Given the description of an element on the screen output the (x, y) to click on. 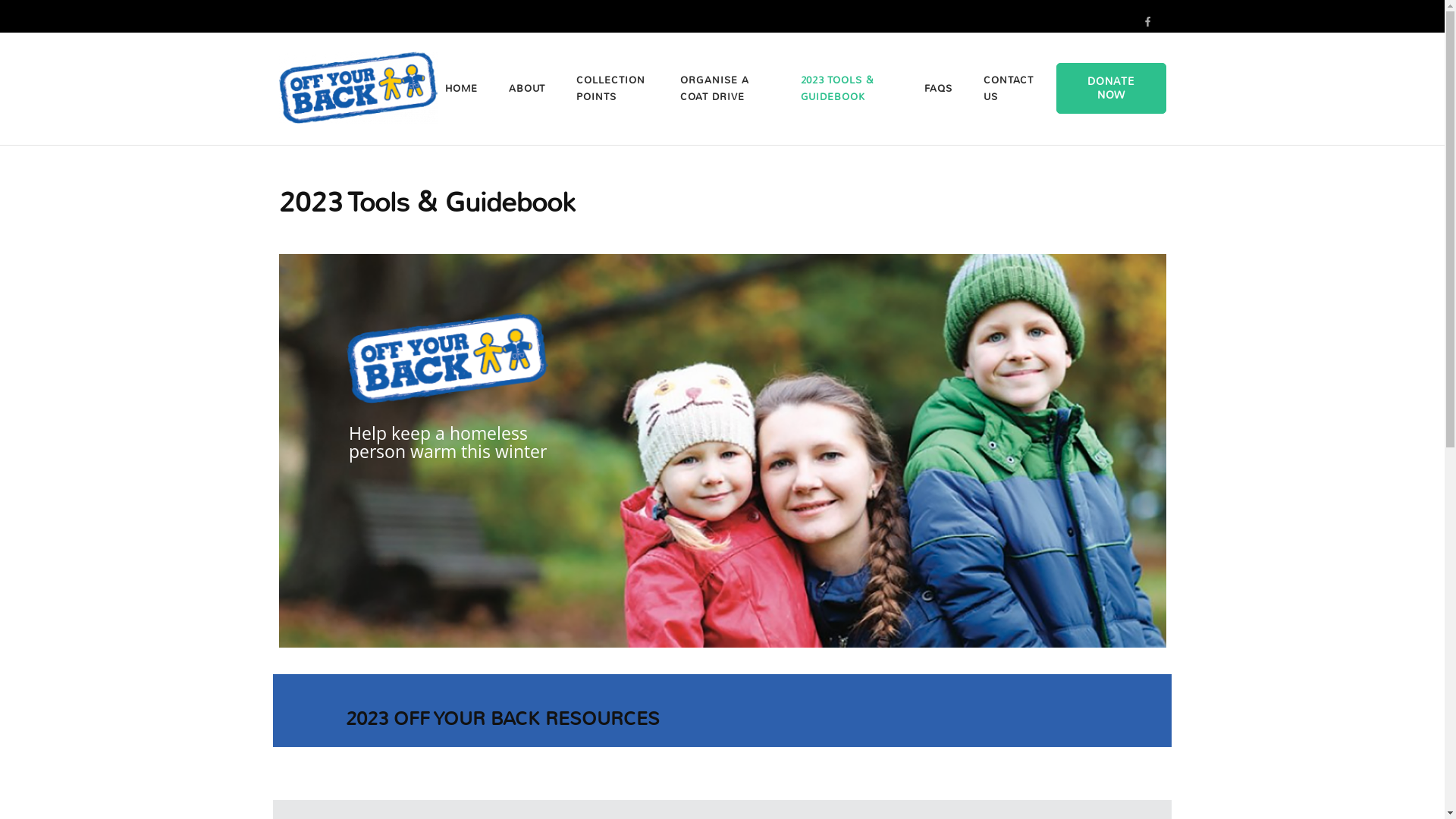
CONTACT US Element type: text (1008, 88)
FAQS Element type: text (938, 88)
ORGANISE A COAT DRIVE Element type: text (724, 88)
2023 TOOLS & GUIDEBOOK Element type: text (846, 88)
HOME Element type: text (461, 88)
COLLECTION POINTS Element type: text (612, 88)
Facebook Element type: hover (1147, 21)
Skip to content (Press Enter) Element type: text (0, 0)
ABOUT Element type: text (526, 88)
DONATE NOW Element type: text (1111, 87)
OFF YOUR BACK Element type: text (523, 99)
